Given the description of an element on the screen output the (x, y) to click on. 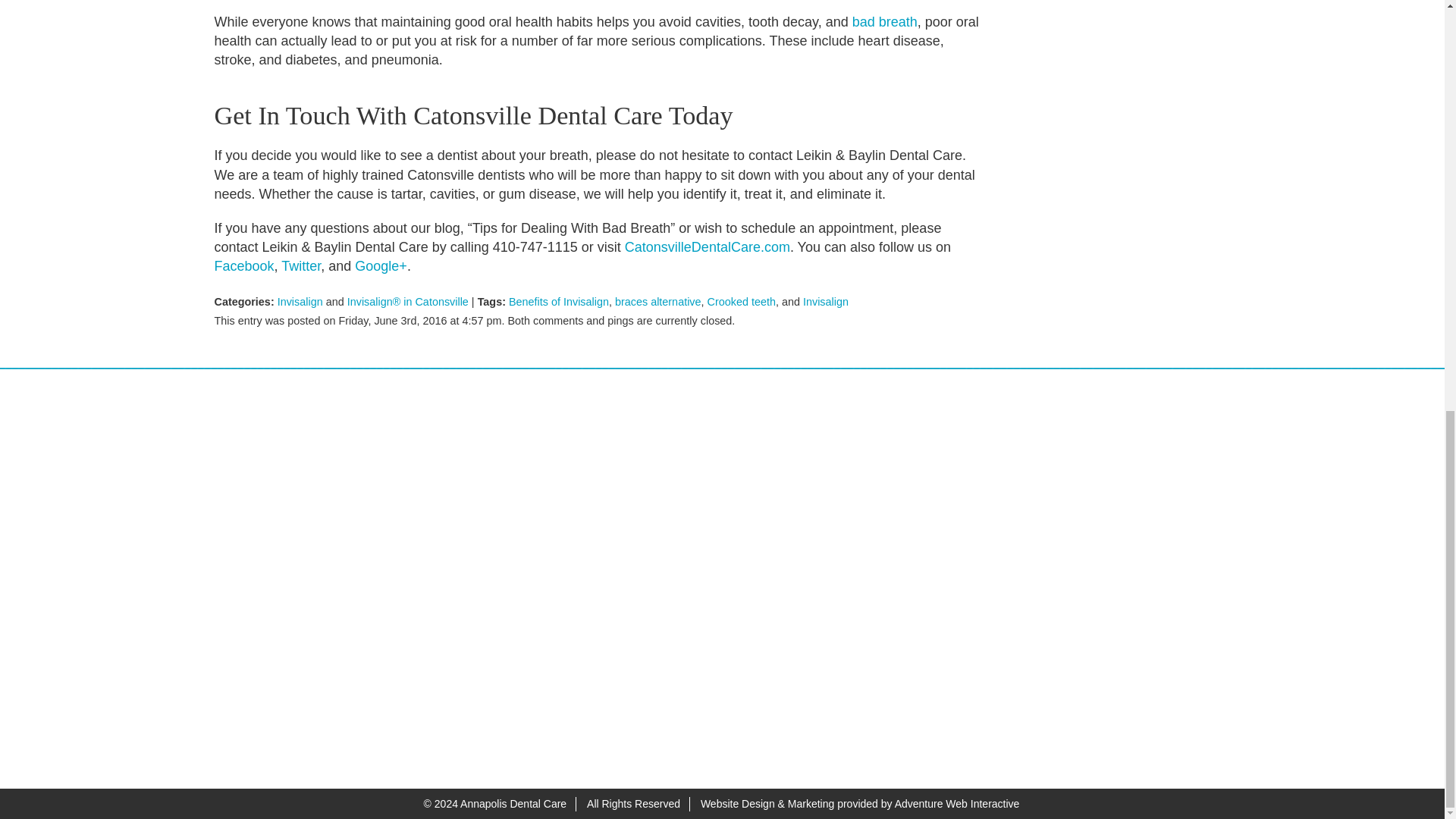
bad breath (884, 21)
Invisalign (300, 301)
Crooked teeth (741, 301)
Invisalign (825, 301)
Facebook (243, 265)
Benefits of Invisalign (558, 301)
CatonsvilleDentalCare.com (707, 246)
braces alternative (657, 301)
Twitter (300, 265)
